Given the description of an element on the screen output the (x, y) to click on. 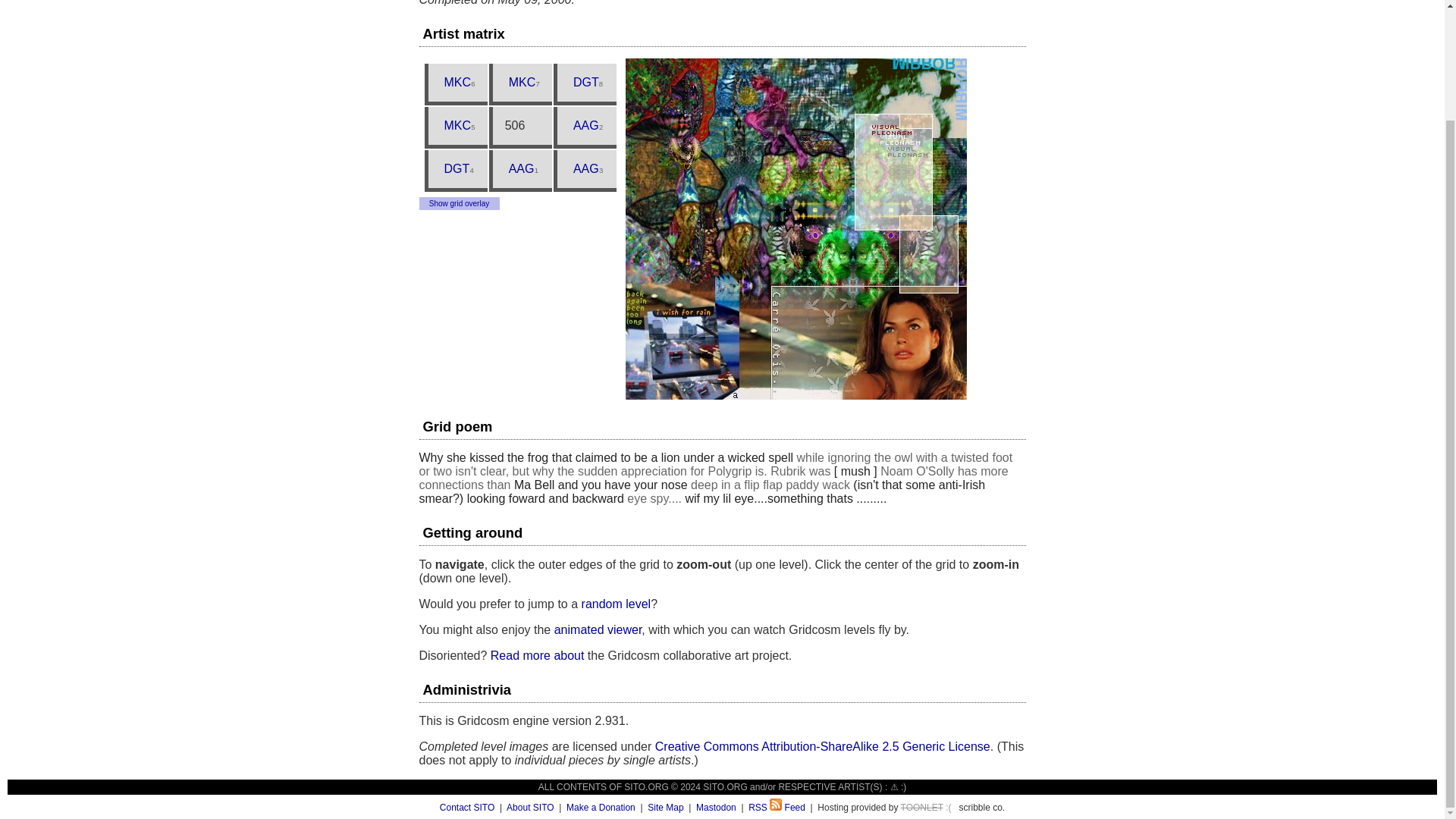
MKC (456, 125)
random level (615, 603)
Mike Casey activity (522, 82)
Allison activity (585, 168)
animated viewer (598, 629)
MKC (456, 82)
MKC (522, 82)
AAG (585, 168)
About SITO (529, 807)
AAG (521, 168)
Mastodon (715, 807)
Read more about (537, 655)
Site Map (664, 807)
jonathan prince activity (456, 168)
jonathan prince activity (585, 82)
